Given the description of an element on the screen output the (x, y) to click on. 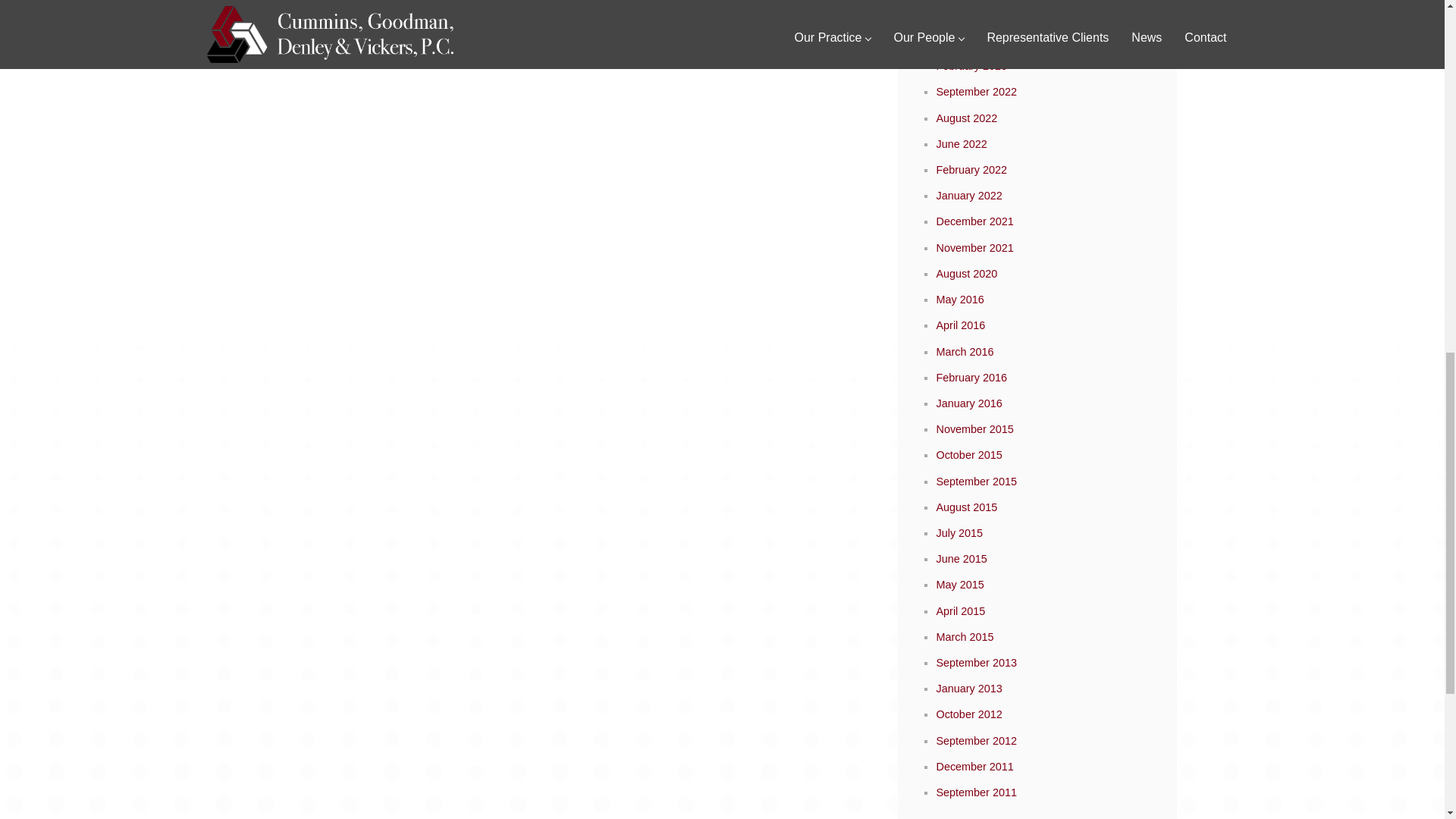
February 2022 (971, 169)
August 2022 (966, 118)
March 2016 (964, 351)
September 2022 (976, 91)
November 2021 (974, 247)
February 2023 (971, 65)
December 2021 (974, 221)
May 2016 (960, 299)
June 2022 (961, 143)
April 2016 (960, 325)
January 2022 (968, 195)
August 2020 (966, 273)
August 2023 (966, 39)
